Given the description of an element on the screen output the (x, y) to click on. 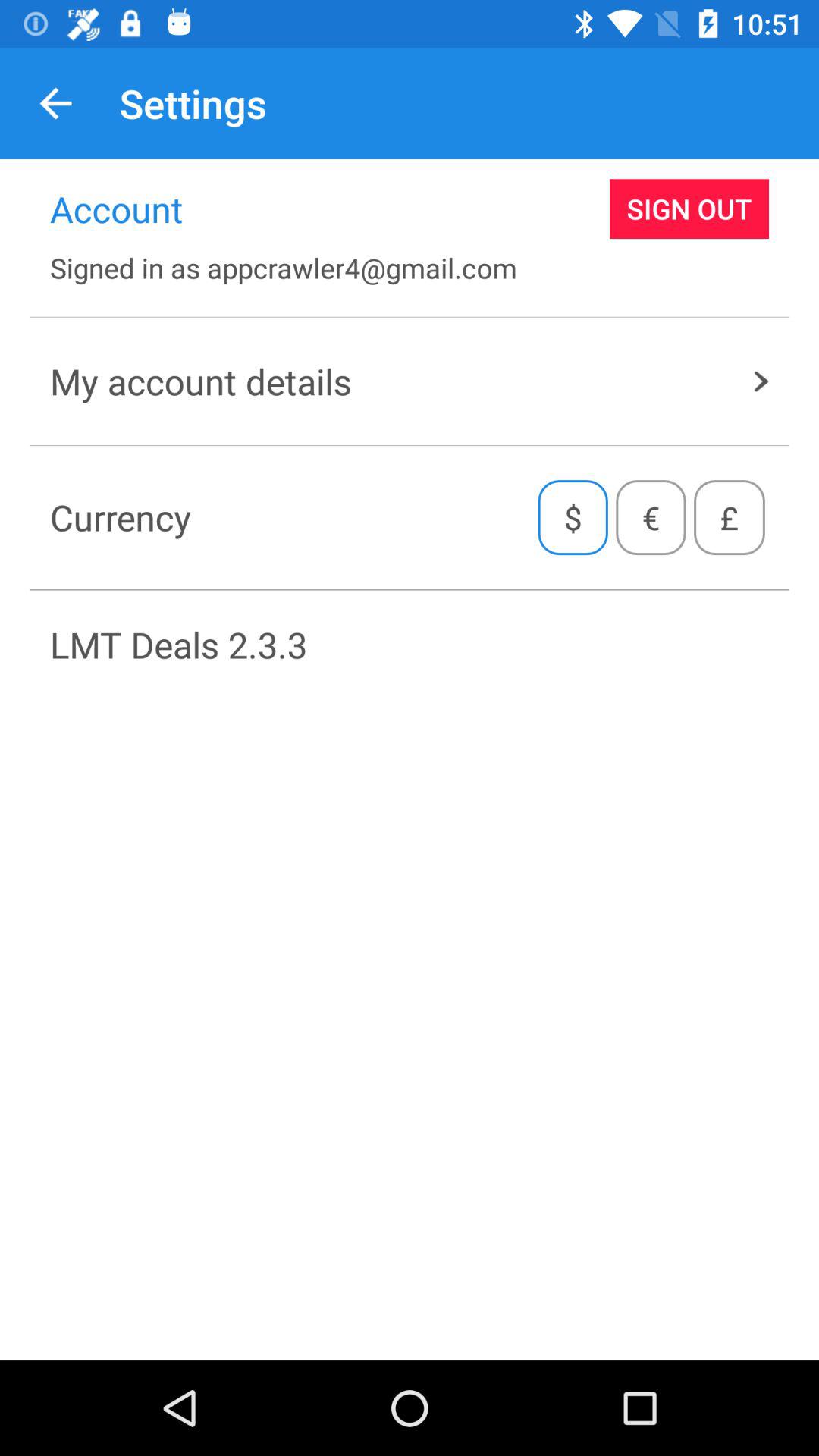
press icon to the right of the $ icon (650, 517)
